Given the description of an element on the screen output the (x, y) to click on. 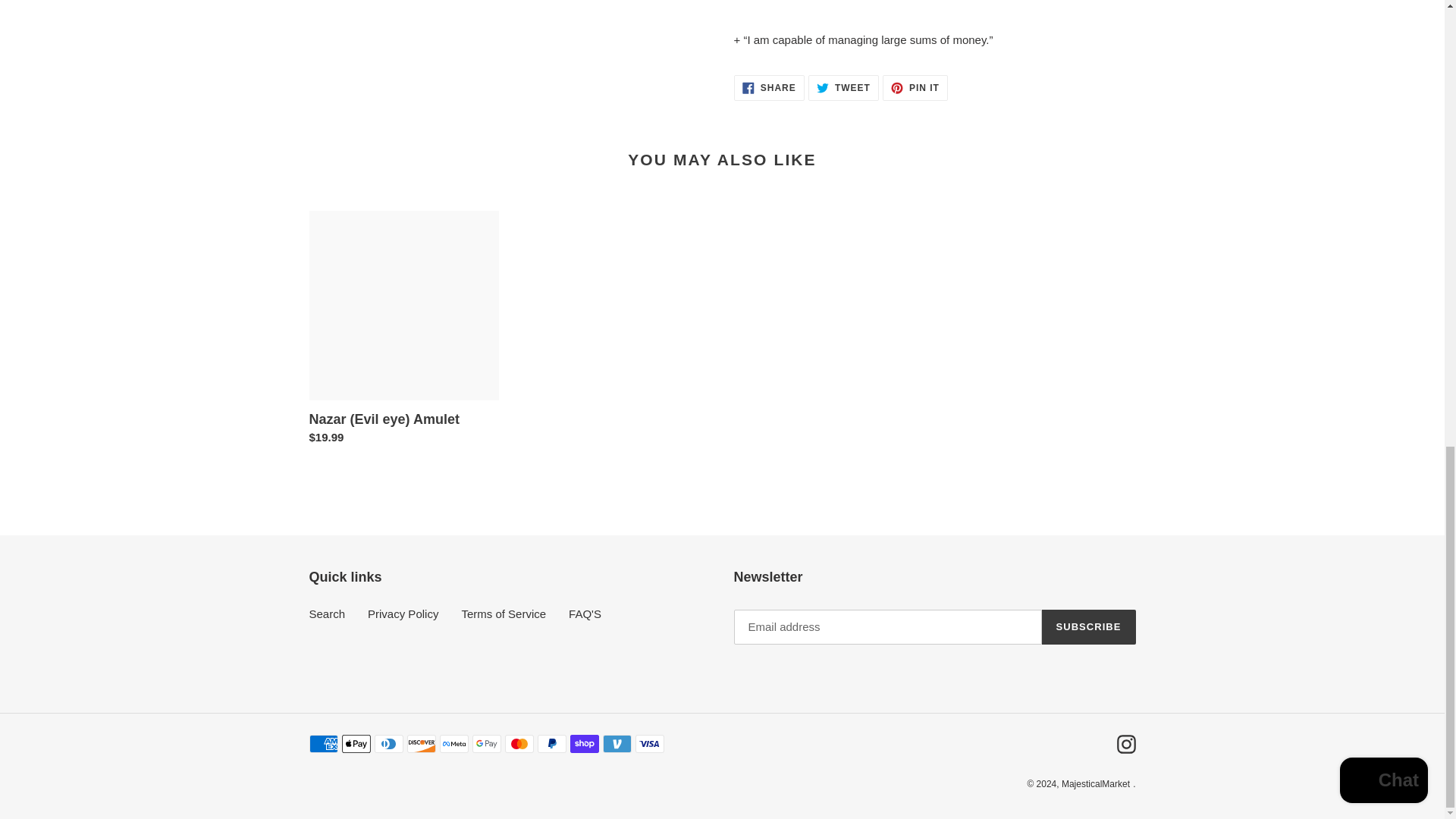
Terms of Service (503, 613)
MajesticalMarket (1095, 783)
Privacy Policy (843, 87)
Instagram (914, 87)
SUBSCRIBE (403, 613)
Search (1125, 743)
FAQ'S (1088, 626)
